Given the description of an element on the screen output the (x, y) to click on. 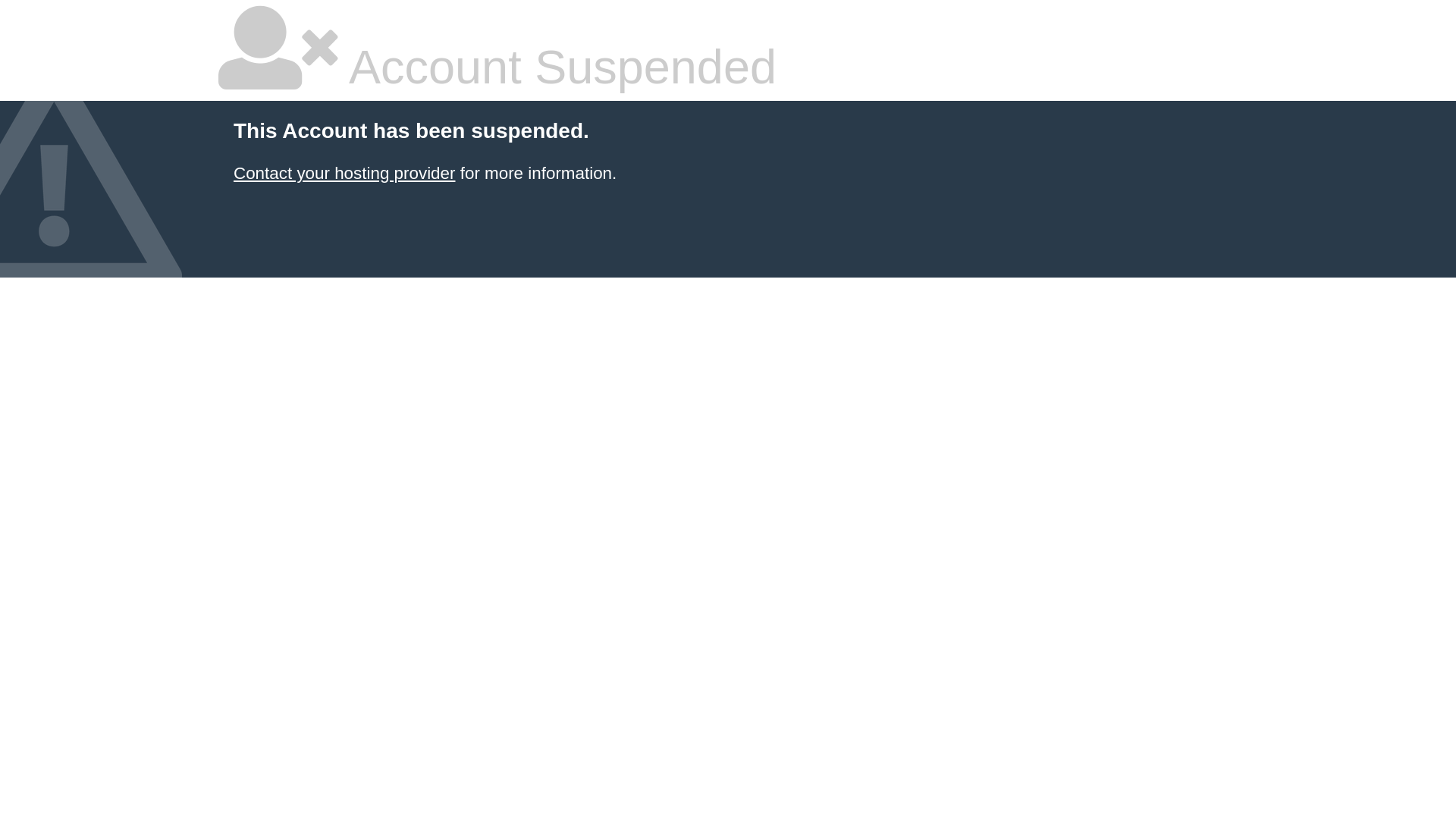
Contact your hosting provider Element type: text (344, 172)
